Given the description of an element on the screen output the (x, y) to click on. 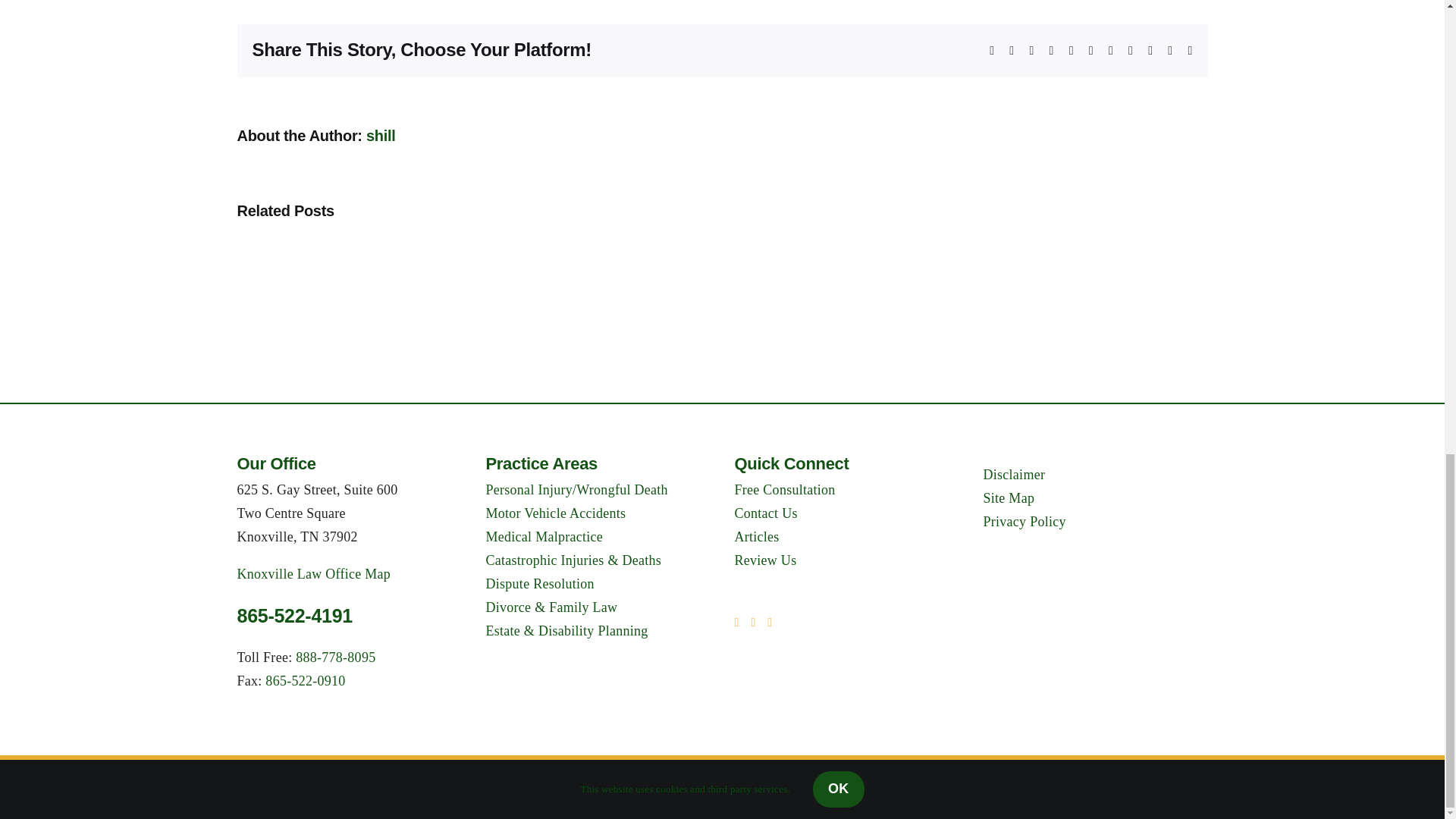
Posts by shill (381, 135)
